Given the description of an element on the screen output the (x, y) to click on. 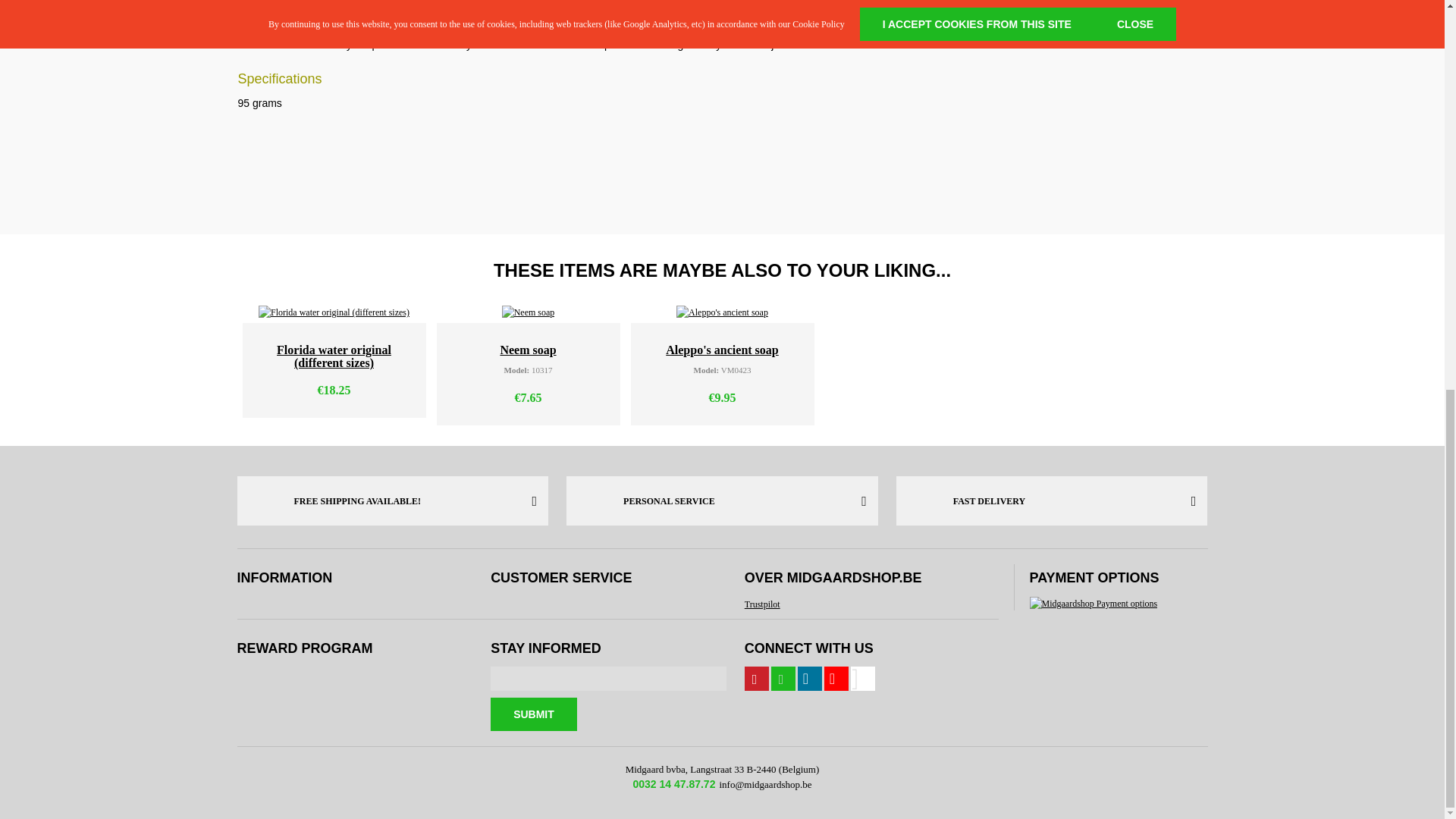
Aleppo's ancient soap (722, 312)
All our payment options (1093, 603)
Neem soap (528, 312)
